Given the description of an element on the screen output the (x, y) to click on. 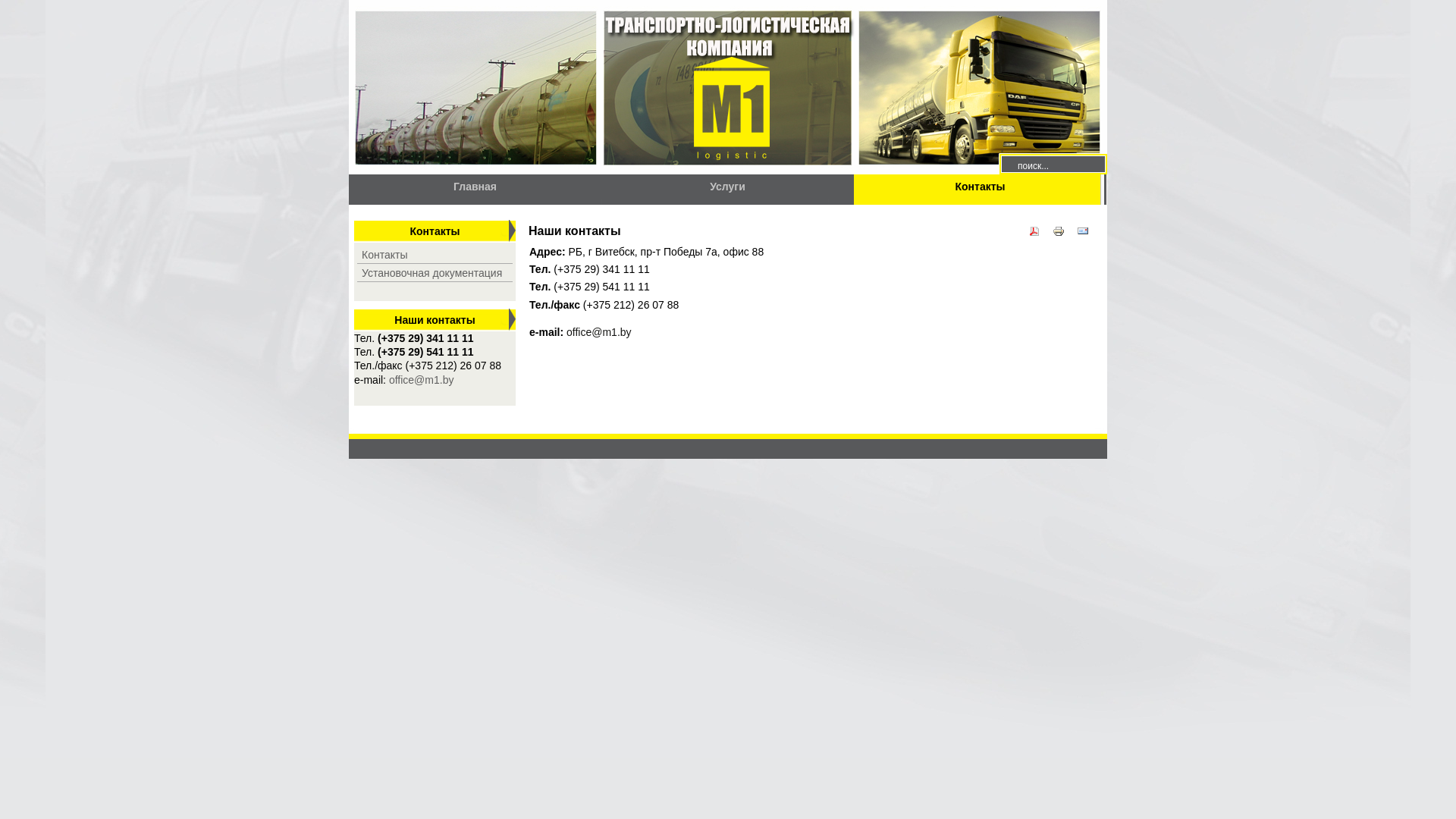
office@m1.by Element type: text (421, 379)
office@m1.by Element type: text (598, 332)
